Given the description of an element on the screen output the (x, y) to click on. 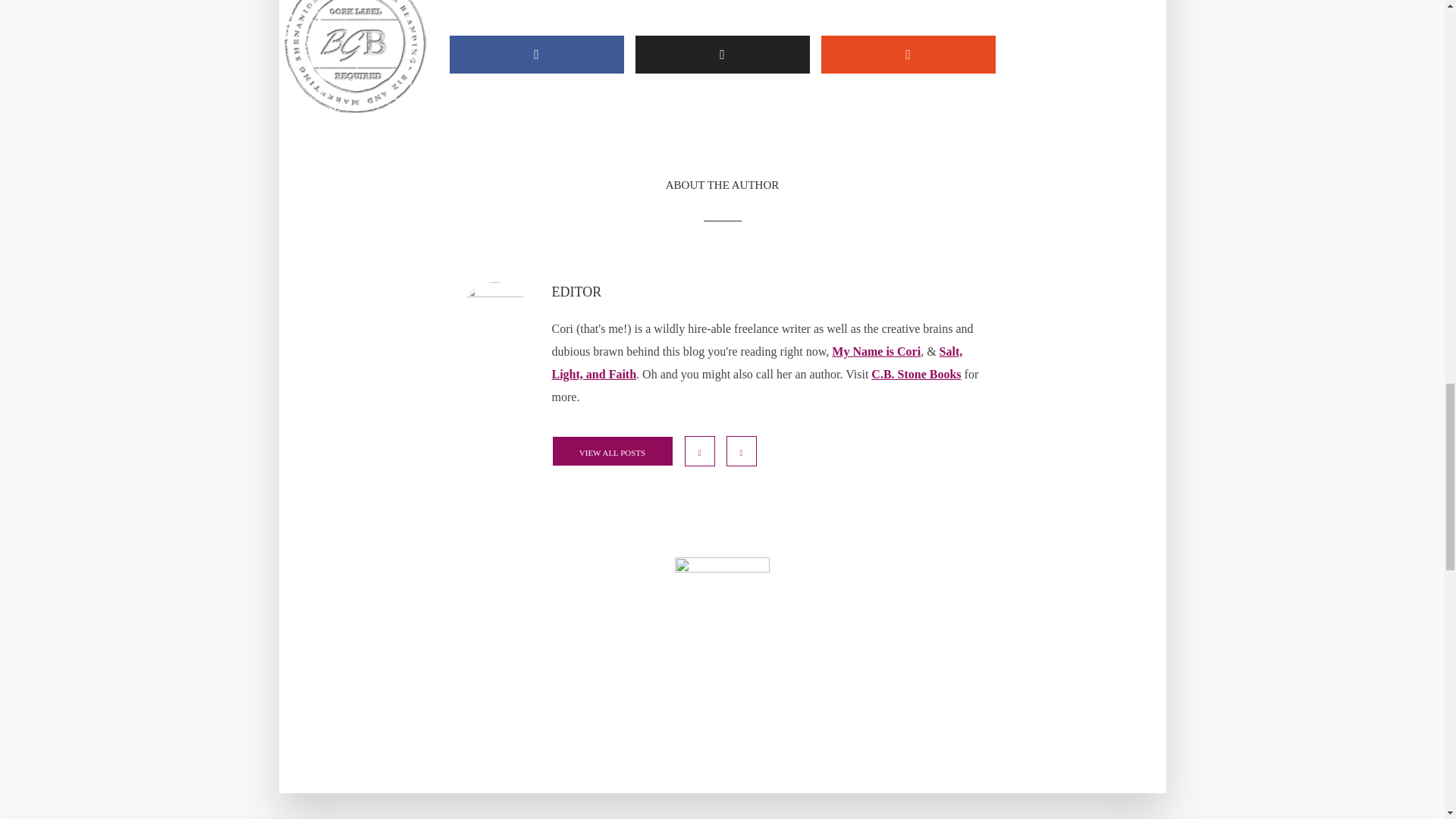
C.B. Stone Books (915, 373)
VIEW ALL POSTS (611, 450)
My Name is Cori (875, 350)
Salt, Light, and Faith (756, 362)
